Given the description of an element on the screen output the (x, y) to click on. 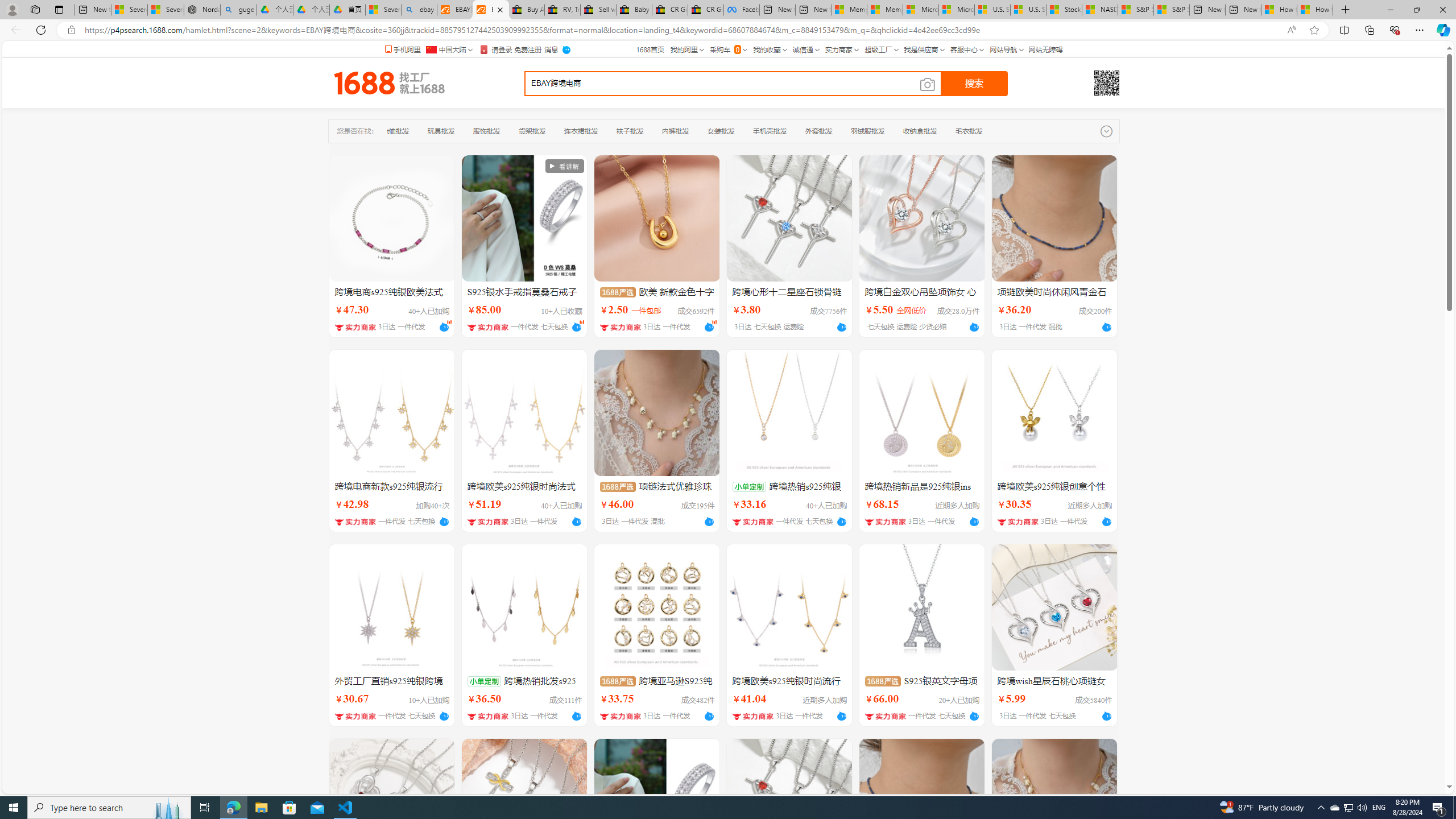
Class: icon (882, 681)
Class: shop-icon h14 (885, 715)
